Given the description of an element on the screen output the (x, y) to click on. 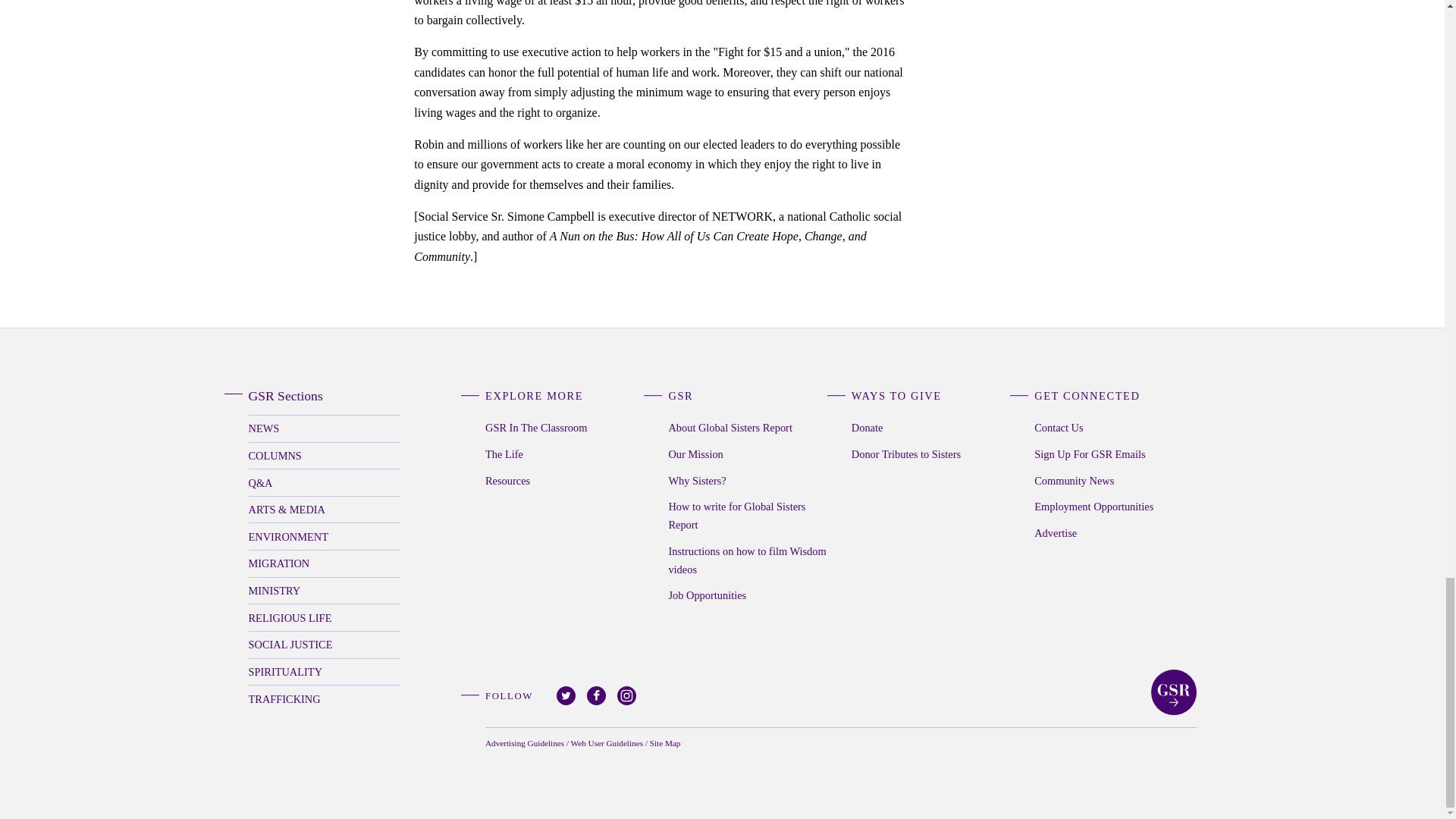
Migration (324, 563)
Social Justice (324, 644)
Trafficking (324, 698)
Religious Life (324, 617)
Spirituality (324, 672)
Environment (324, 536)
Ministry (324, 591)
